Given the description of an element on the screen output the (x, y) to click on. 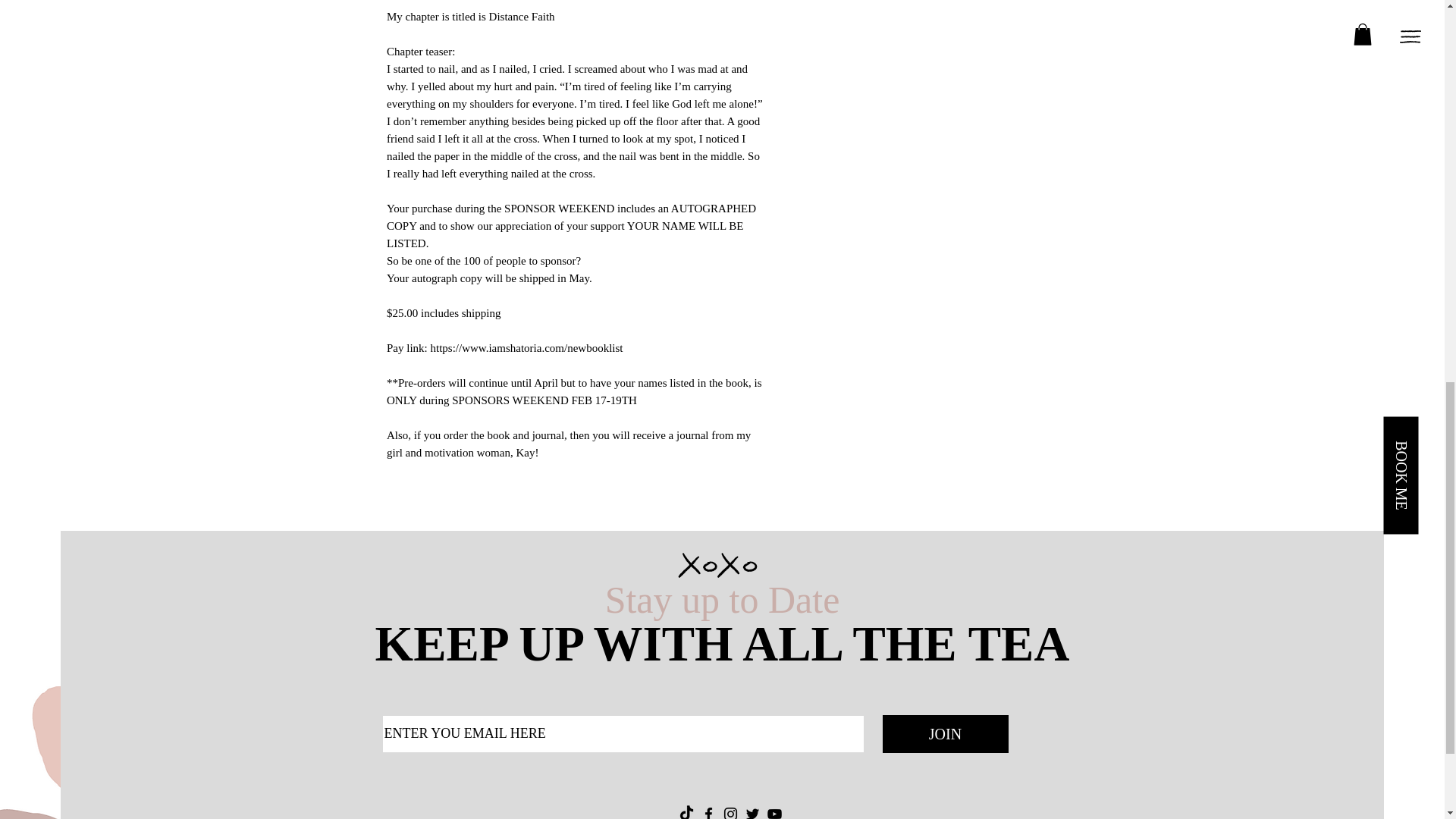
JOIN (945, 733)
